Given the description of an element on the screen output the (x, y) to click on. 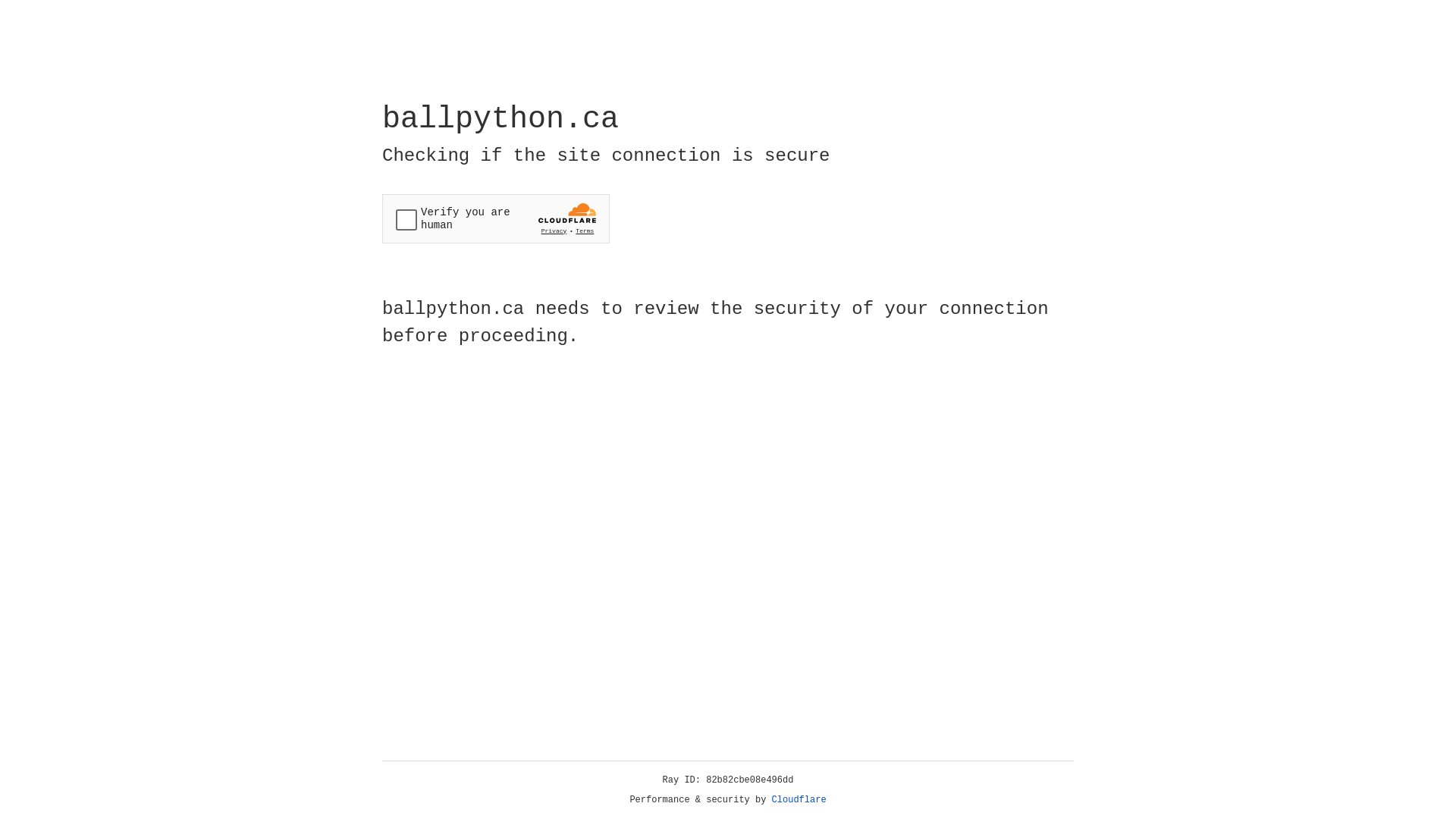
Widget containing a Cloudflare security challenge Element type: hover (495, 218)
Cloudflare Element type: text (798, 799)
